Given the description of an element on the screen output the (x, y) to click on. 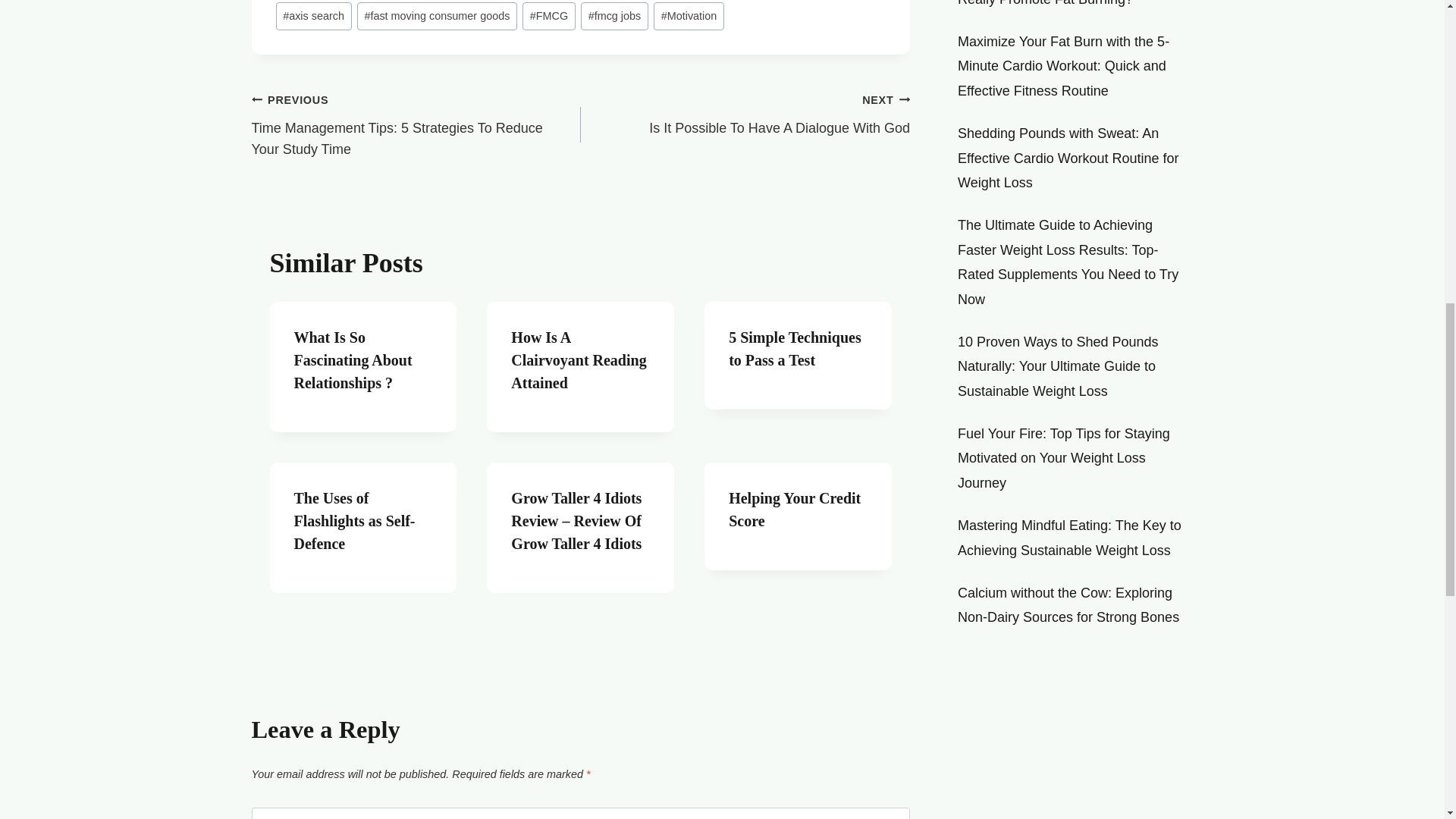
axis search (314, 16)
What Is So Fascinating About Relationships ? (353, 360)
fast moving consumer goods (745, 113)
How Is A Clairvoyant Reading Attained (436, 16)
Motivation (578, 360)
fmcg jobs (688, 16)
FMCG (613, 16)
